Given the description of an element on the screen output the (x, y) to click on. 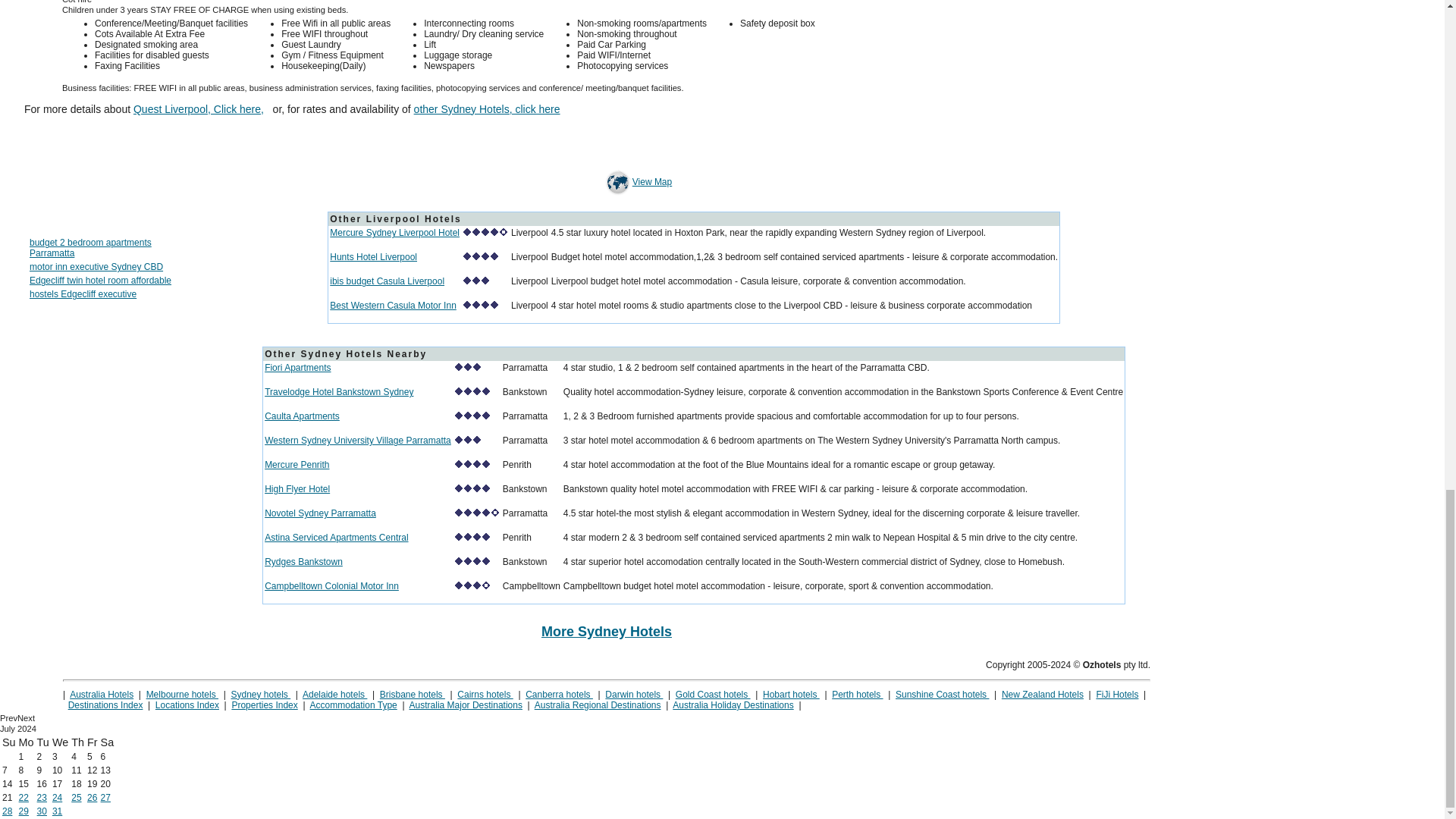
Next (25, 717)
Saturday (107, 742)
Hunts Hotel Liverpool (373, 256)
Wednesday (60, 742)
Quest Liverpool, Click here, (198, 109)
View Map (636, 181)
Tuesday (43, 742)
budget 2 bedroom apartments Parramatta (90, 247)
Prev (8, 717)
View Map (616, 181)
hostels Edgecliff executive (82, 294)
Sunday (9, 742)
Mercure Sydney Liverpool Hotel (395, 232)
Monday (25, 742)
other Sydney Hotels, click here (486, 109)
